Given the description of an element on the screen output the (x, y) to click on. 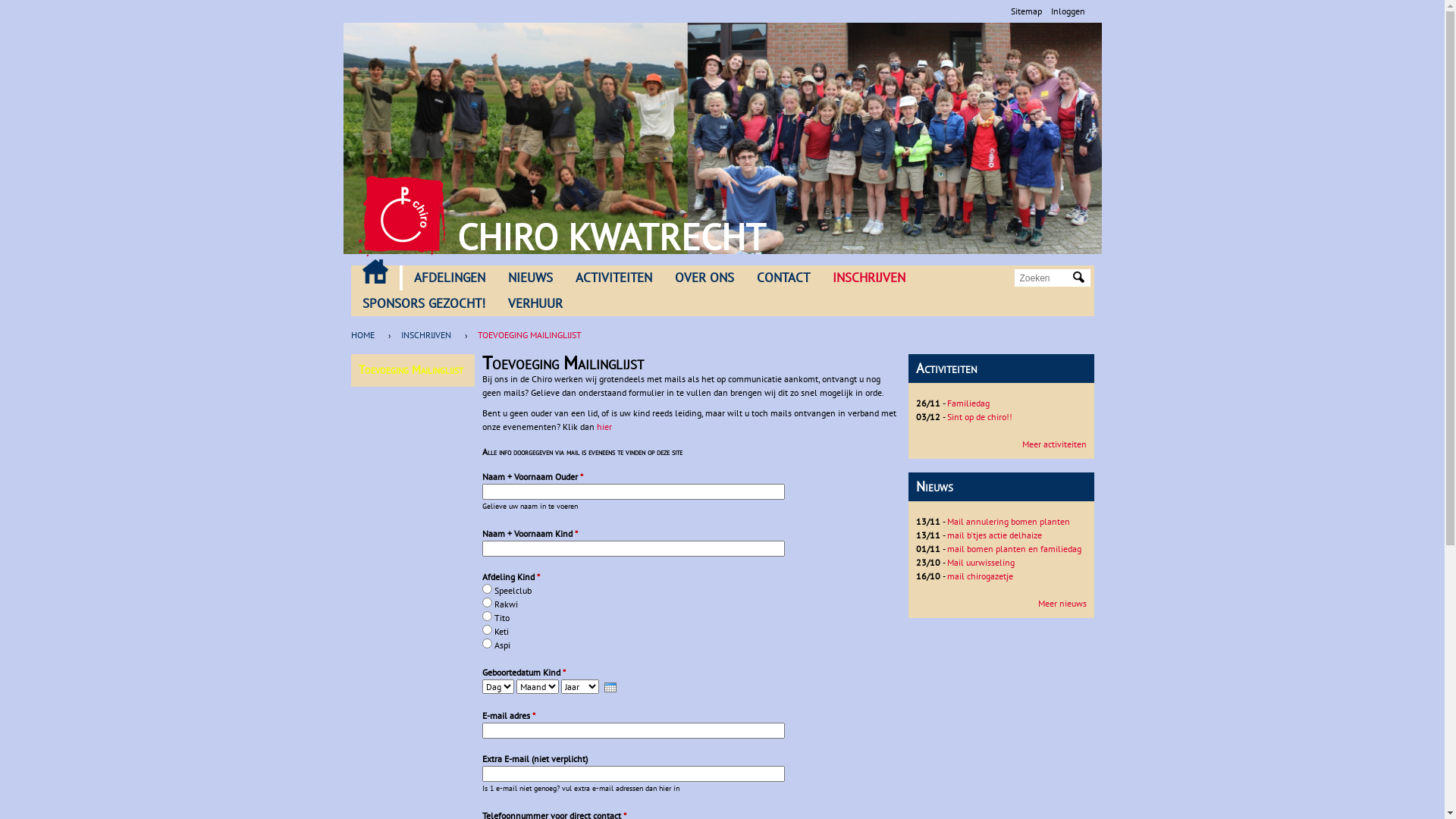
NIEUWS Element type: text (529, 278)
Meer nieuws Element type: text (1061, 602)
CHIRO KWATRECHT Element type: text (610, 236)
Mail annulering bomen planten Element type: text (1007, 521)
ACTIVITEITEN Element type: text (613, 278)
Meer activiteiten Element type: text (1054, 443)
mail b'tjes actie delhaize Element type: text (993, 534)
Mail uurwisseling Element type: text (979, 561)
CONTACT Element type: text (782, 278)
INSCHRIJVEN Element type: text (868, 278)
Toevoeging Mailinglijst Element type: text (409, 369)
Familiedag Element type: text (967, 402)
Sitemap Element type: text (1025, 10)
Jump to navigation Element type: text (722, 2)
OVER ONS Element type: text (703, 278)
SPONSORS GEZOCHT! Element type: text (422, 303)
AFDELINGEN Element type: text (448, 278)
mail chirogazetje Element type: text (979, 575)
Inloggen Element type: text (1068, 10)
HOME Element type: text (374, 271)
Open popup calendar Element type: hover (610, 687)
Geef de woorden op waarnaar u wilt zoeken. Element type: hover (1043, 277)
Home Element type: hover (401, 215)
VERHUUR Element type: text (534, 303)
mail bomen planten en familiedag Element type: text (1013, 548)
Sint op de chiro!! Element type: text (978, 416)
HOME Element type: text (365, 334)
INSCHRIJVEN Element type: text (425, 334)
hier Element type: text (603, 426)
